Given the description of an element on the screen output the (x, y) to click on. 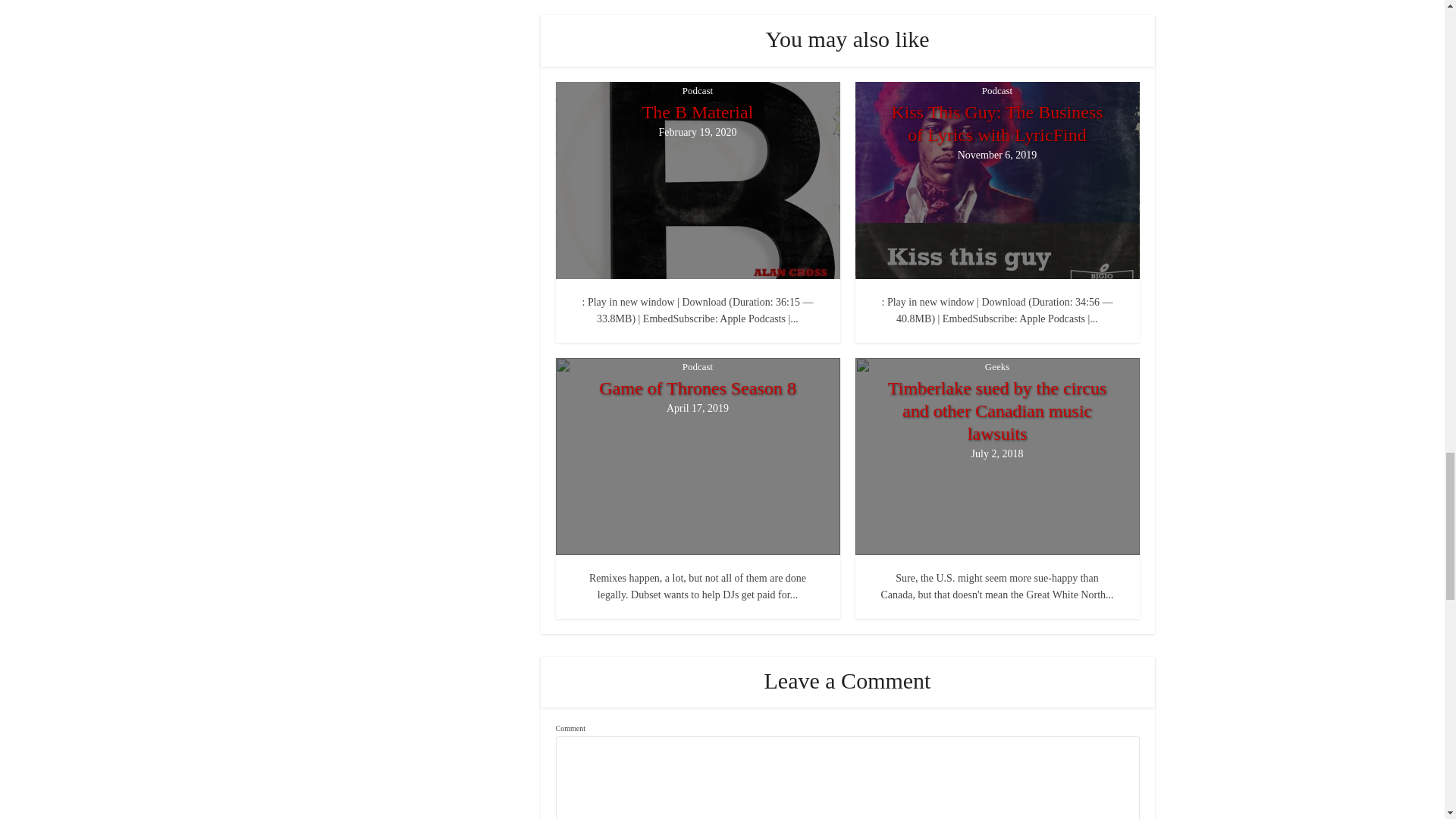
Podcast (697, 366)
The B Material (697, 111)
The B Material (697, 111)
Kiss This Guy: The Business of Lyrics with LyricFind (998, 123)
Kiss This Guy: The Business of Lyrics with LyricFind (998, 123)
Game of Thrones Season 8 (697, 387)
Podcast (997, 90)
Podcast (697, 90)
Game of Thrones Season 8 (697, 387)
